Given the description of an element on the screen output the (x, y) to click on. 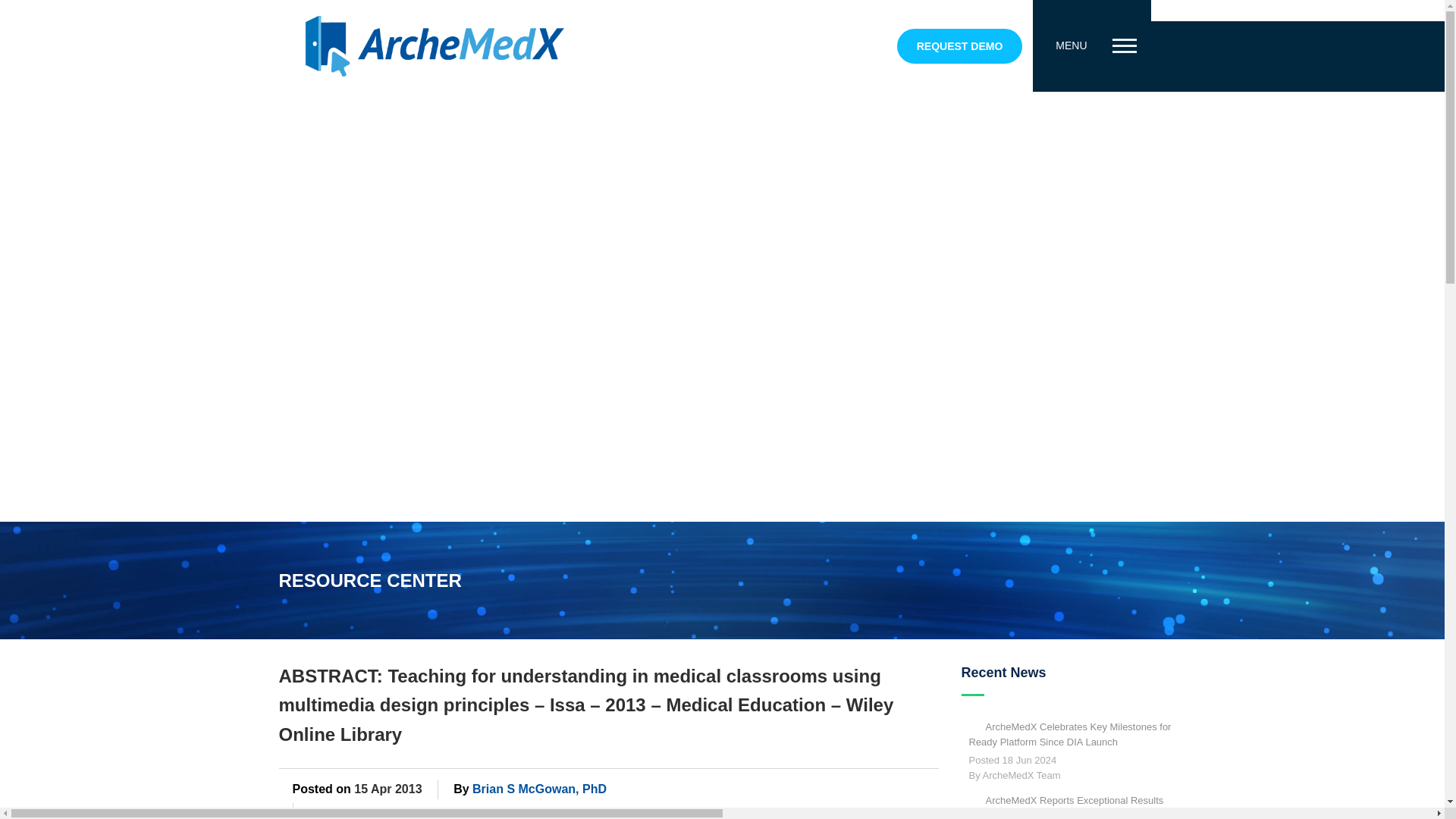
No comment (756, 813)
Resources (680, 812)
Brian S McGowan, PhD (539, 788)
No comment (756, 813)
Abstract (346, 812)
Posts by Brian S McGowan, PhD (539, 788)
REQUEST DEMO (959, 45)
Medical Education (588, 812)
